Given the description of an element on the screen output the (x, y) to click on. 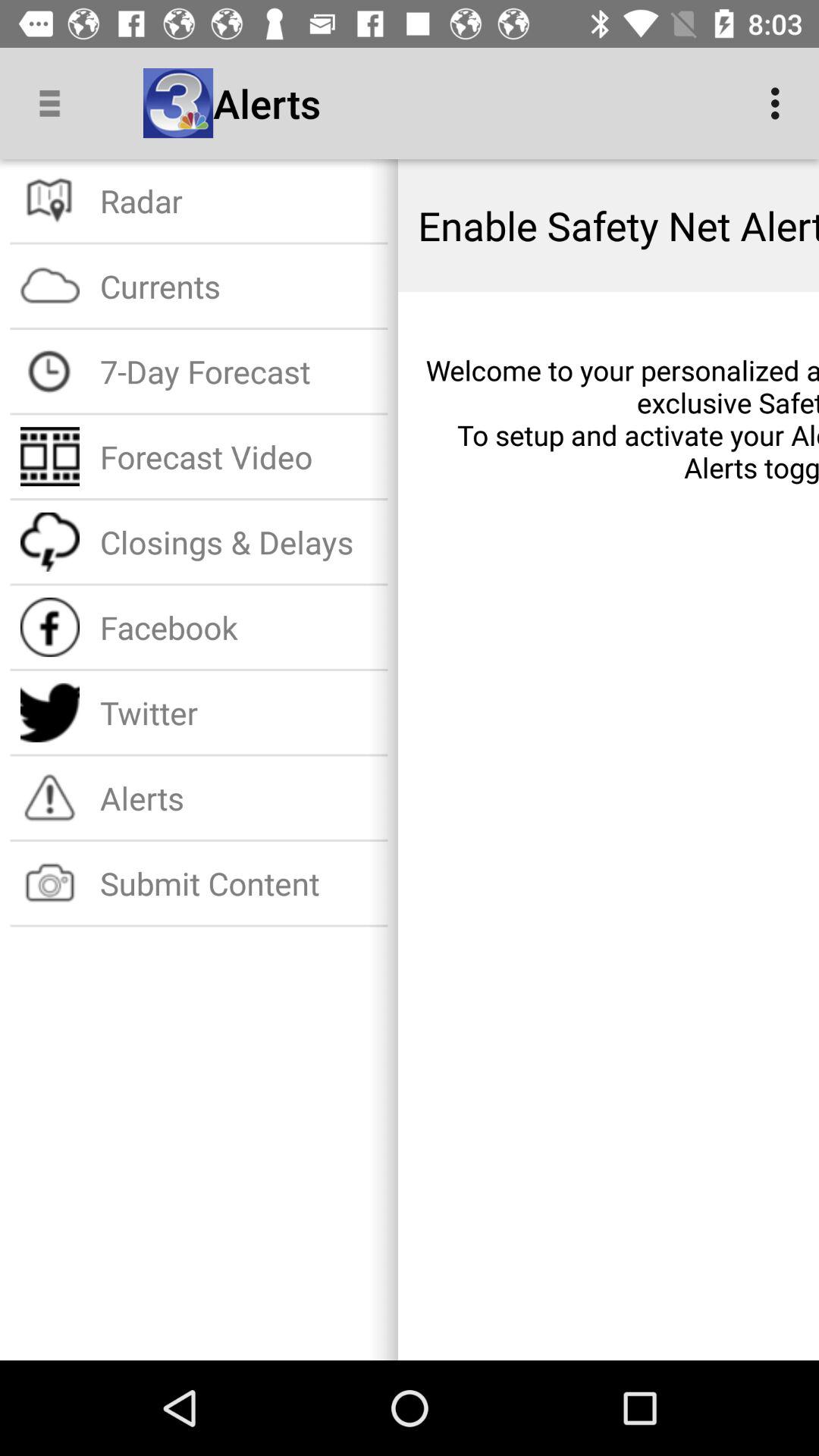
launch the twitter icon (238, 712)
